Given the description of an element on the screen output the (x, y) to click on. 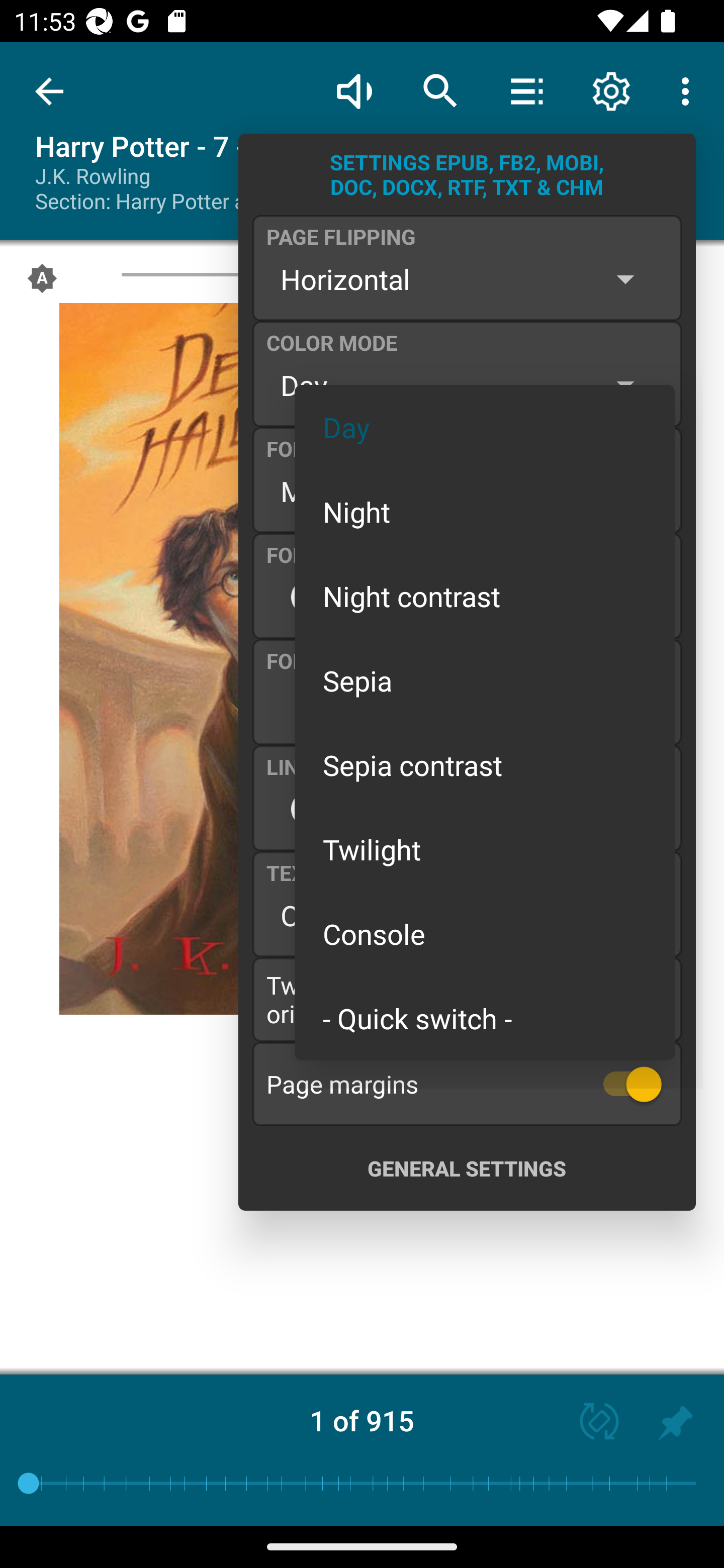
Day (484, 426)
Night (484, 510)
Night contrast (484, 595)
Sepia (484, 680)
Sepia contrast (484, 764)
Twilight (484, 849)
Console (484, 933)
- Quick switch - (484, 1017)
